Given the description of an element on the screen output the (x, y) to click on. 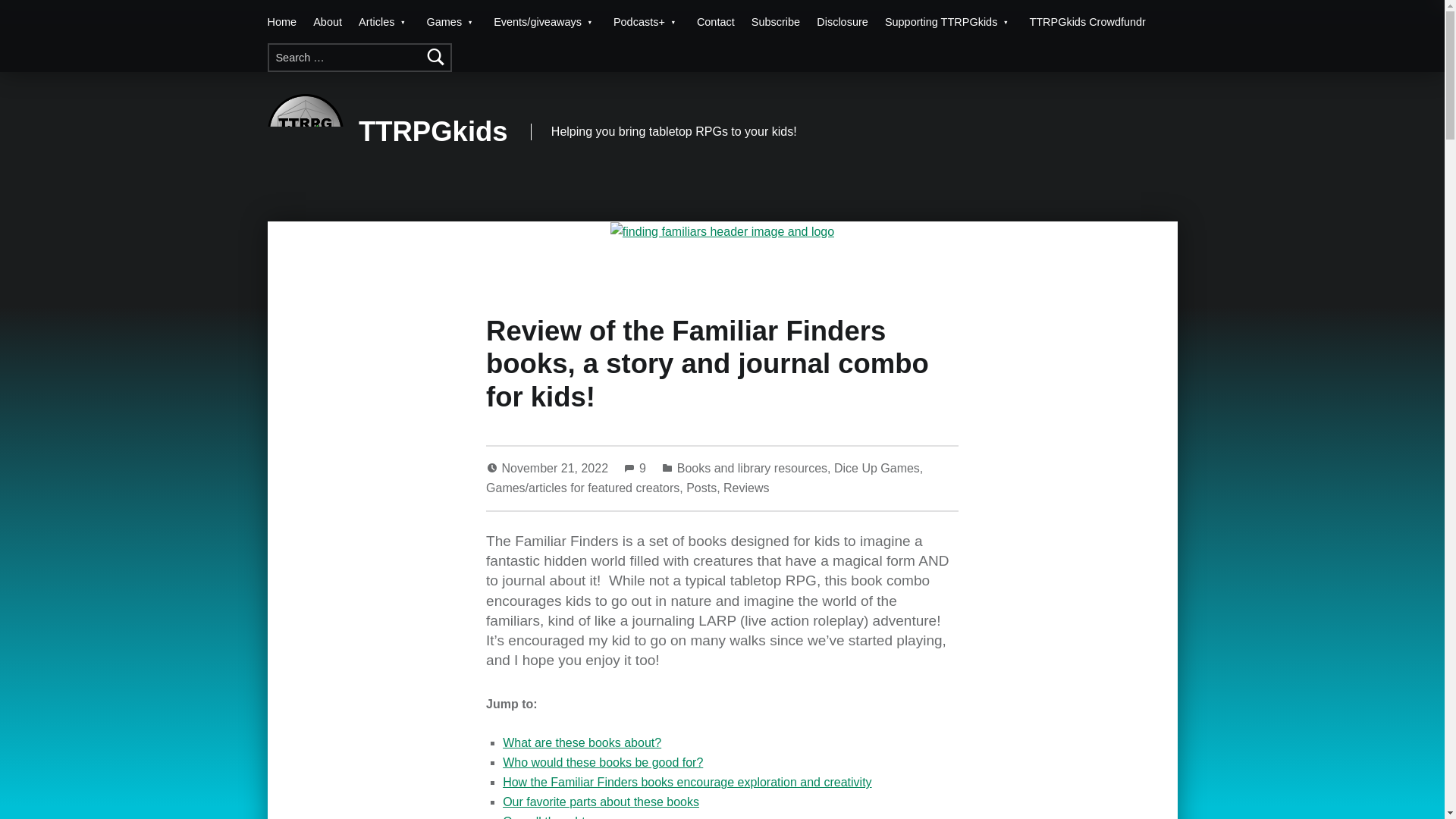
Comments: 9 (636, 468)
Search (437, 57)
Search (437, 57)
Articles (383, 21)
Search (437, 57)
Games (451, 21)
Posted on: November 21, 2022 (556, 468)
Subscribe (775, 21)
Contact (716, 21)
